Given the description of an element on the screen output the (x, y) to click on. 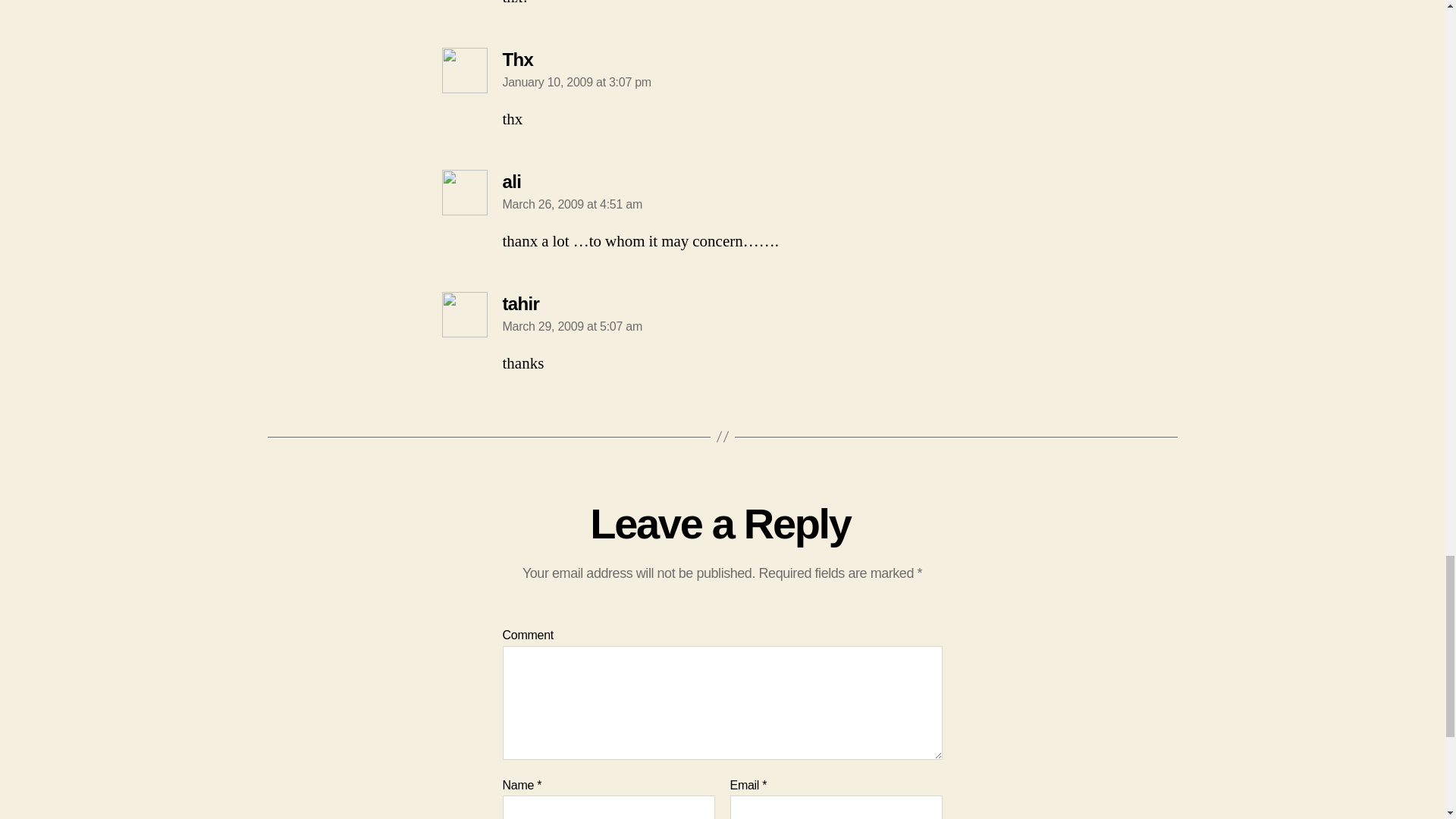
March 29, 2009 at 5:07 am (572, 326)
January 10, 2009 at 3:07 pm (576, 82)
March 26, 2009 at 4:51 am (572, 204)
March 26, 2009 at 4:51 am (572, 204)
March 29, 2009 at 5:07 am (572, 326)
January 10, 2009 at 3:07 pm (576, 82)
